Given the description of an element on the screen output the (x, y) to click on. 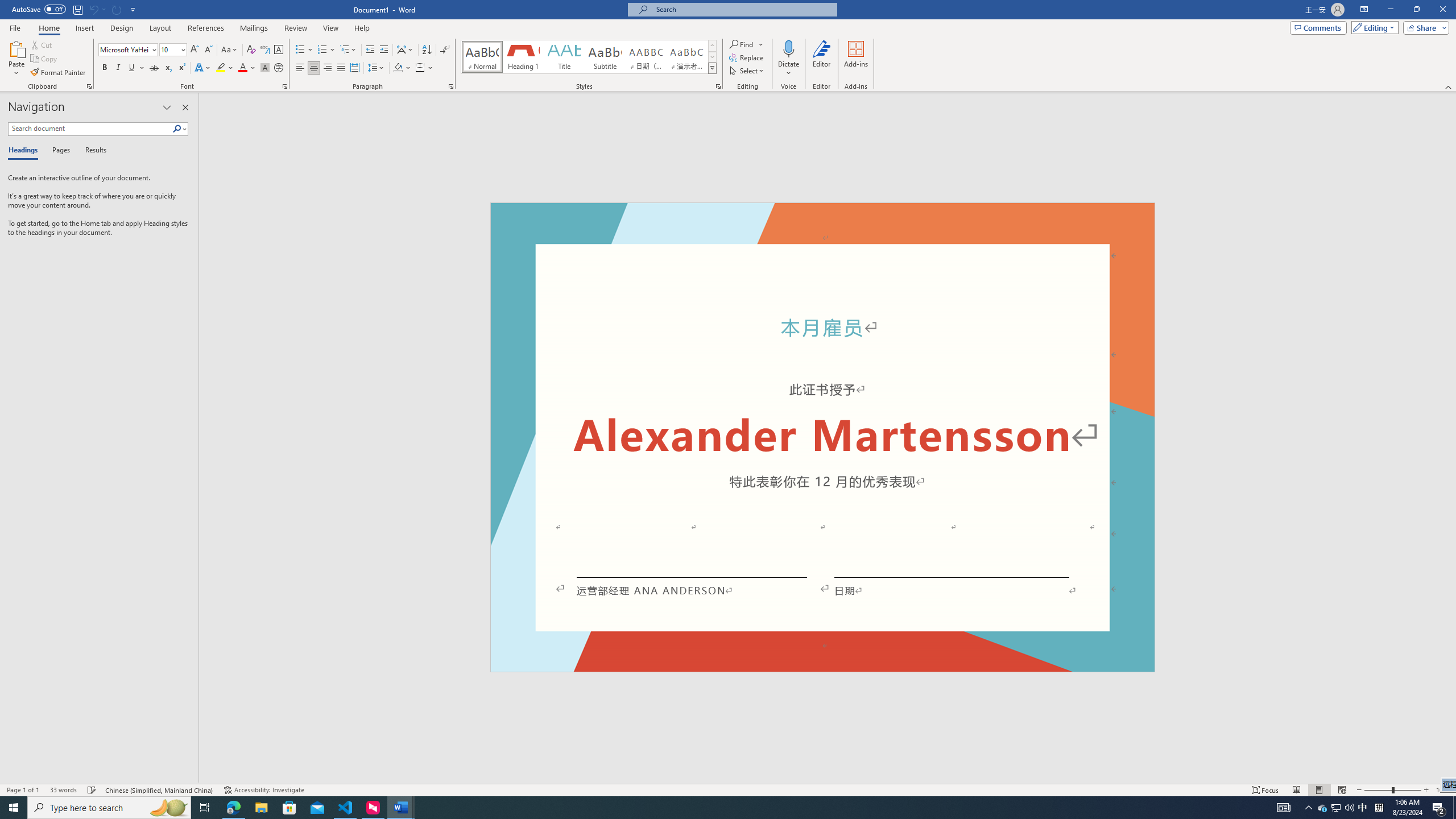
Task Pane Options (167, 107)
Replace... (747, 56)
Shading (402, 67)
Open (182, 49)
Styles (711, 67)
Select (747, 69)
Font Color (246, 67)
Row Down (711, 56)
Pages (59, 150)
